Given the description of an element on the screen output the (x, y) to click on. 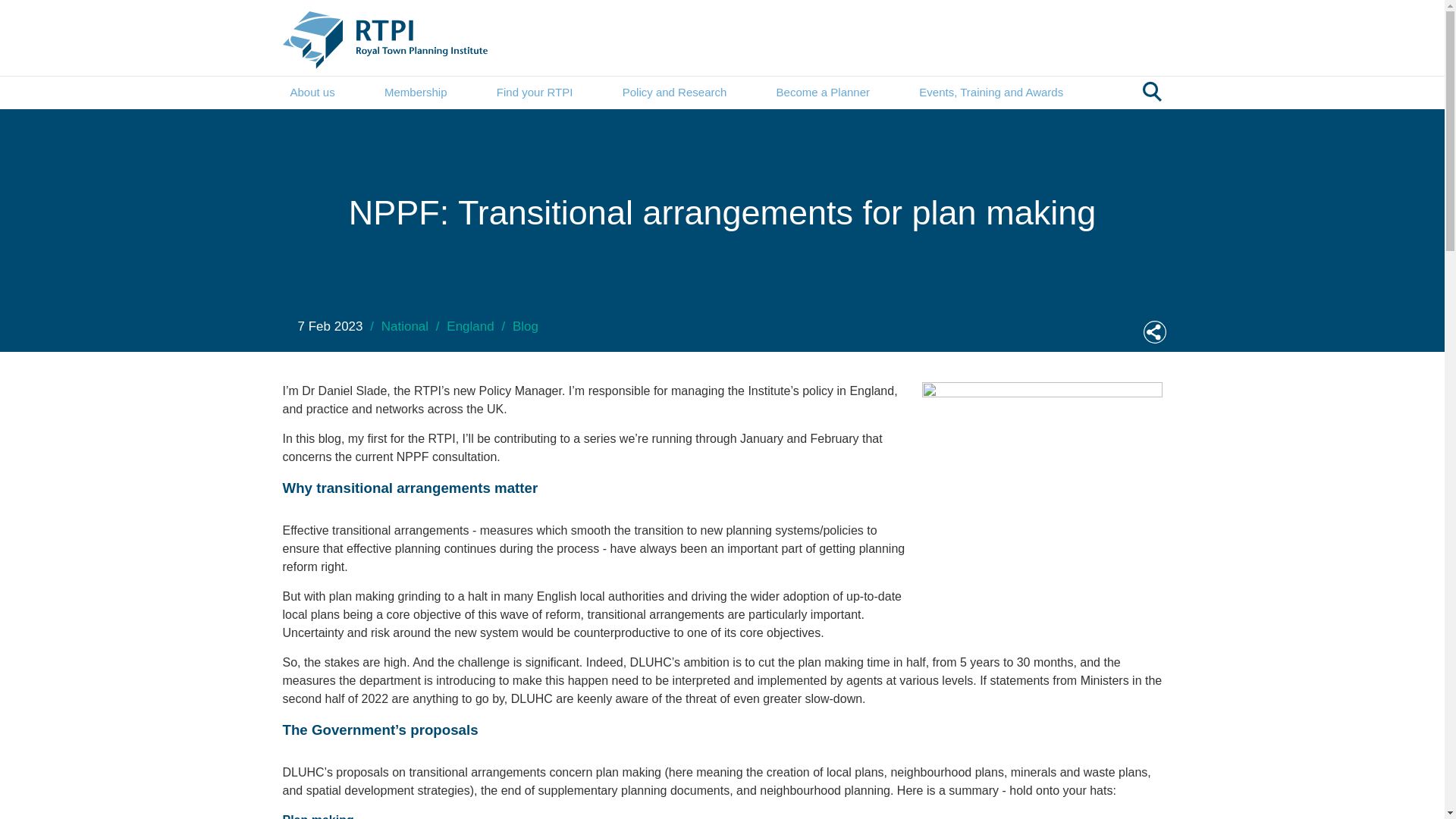
Find your RTPI (534, 92)
About us (311, 92)
Find your RTPI (534, 92)
Become a planner (822, 92)
Policy, Practice, and Research (674, 92)
Events, Training and Awards (990, 92)
Membership (415, 92)
Membership (415, 92)
About us (311, 92)
